Given the description of an element on the screen output the (x, y) to click on. 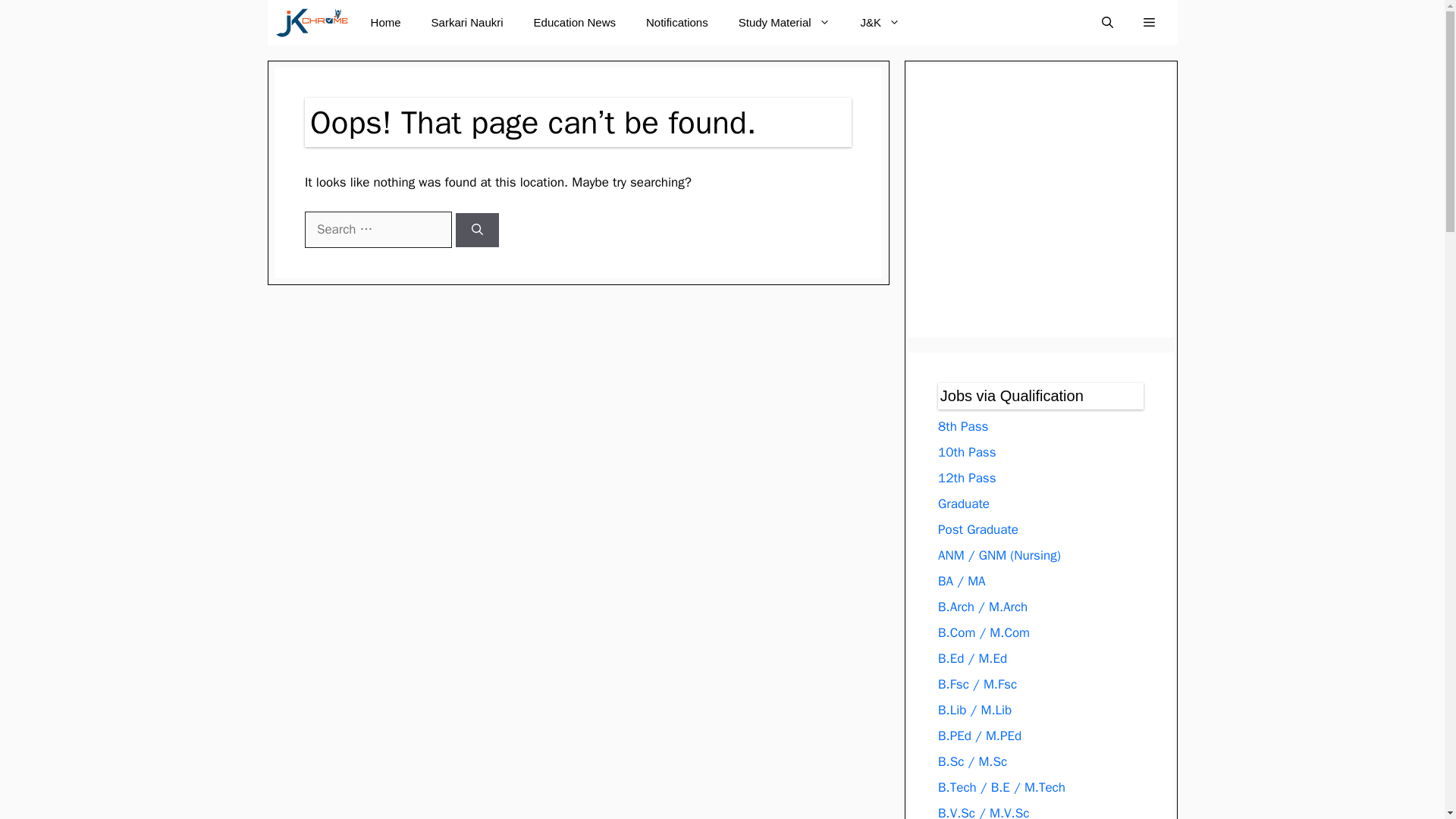
Study Material (784, 22)
Advertisement (1072, 201)
JK Chrome (311, 22)
Notifications (676, 22)
Home (385, 22)
Search for: (377, 229)
Education News (574, 22)
Sarkari Naukri (467, 22)
